Given the description of an element on the screen output the (x, y) to click on. 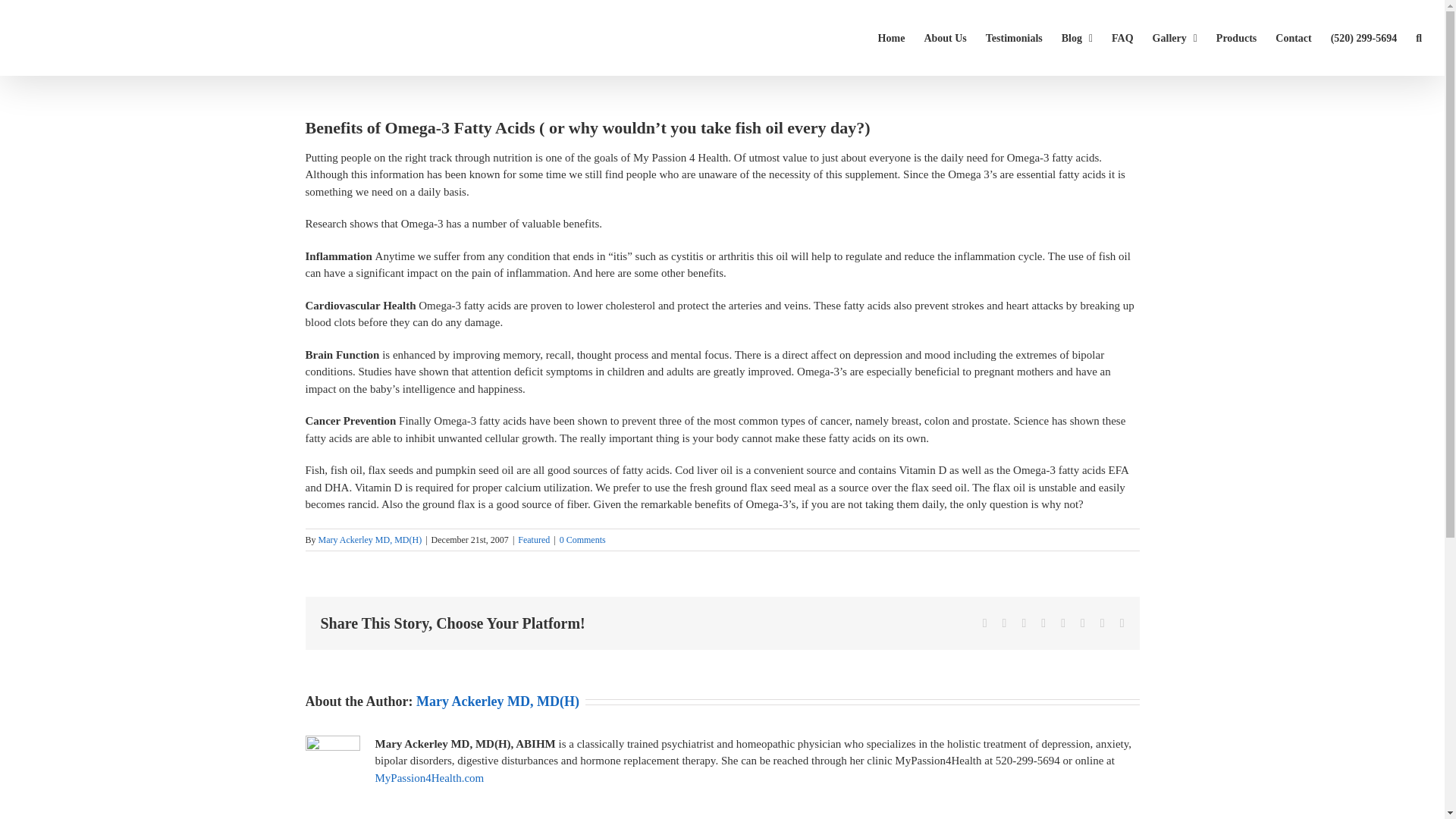
Featured (534, 539)
0 Comments (582, 539)
